Given the description of an element on the screen output the (x, y) to click on. 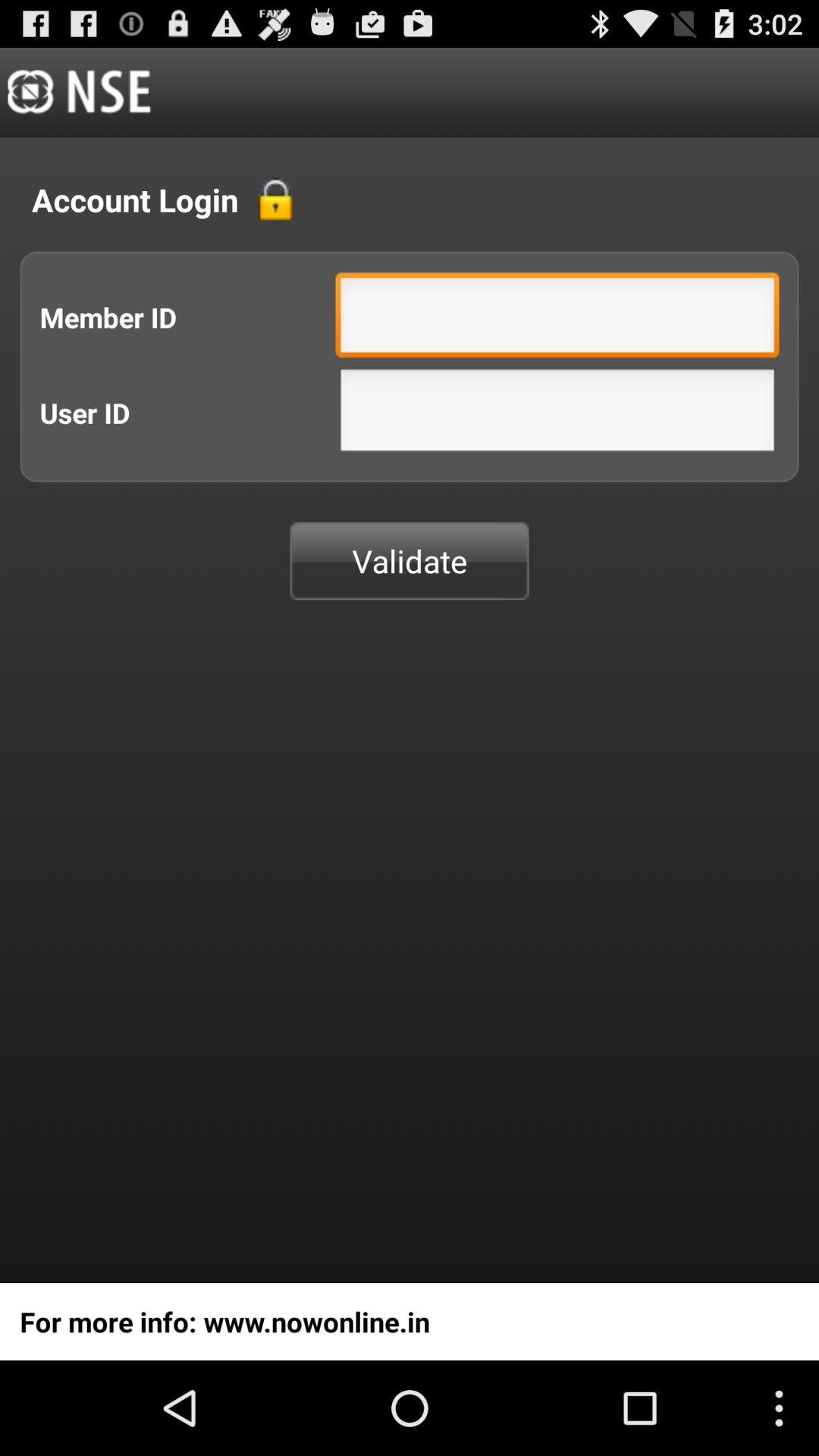
jump to the validate (409, 561)
